Given the description of an element on the screen output the (x, y) to click on. 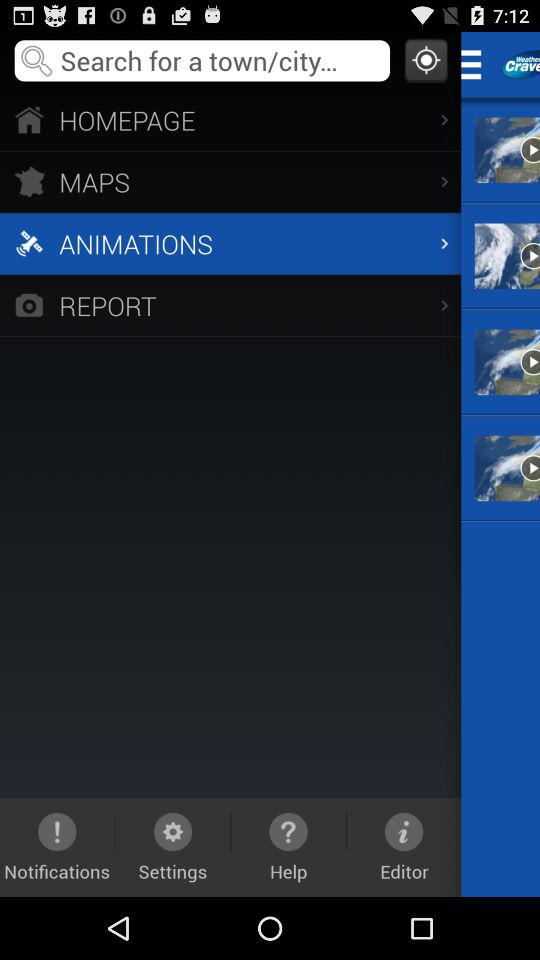
choose the settings item (172, 847)
